Given the description of an element on the screen output the (x, y) to click on. 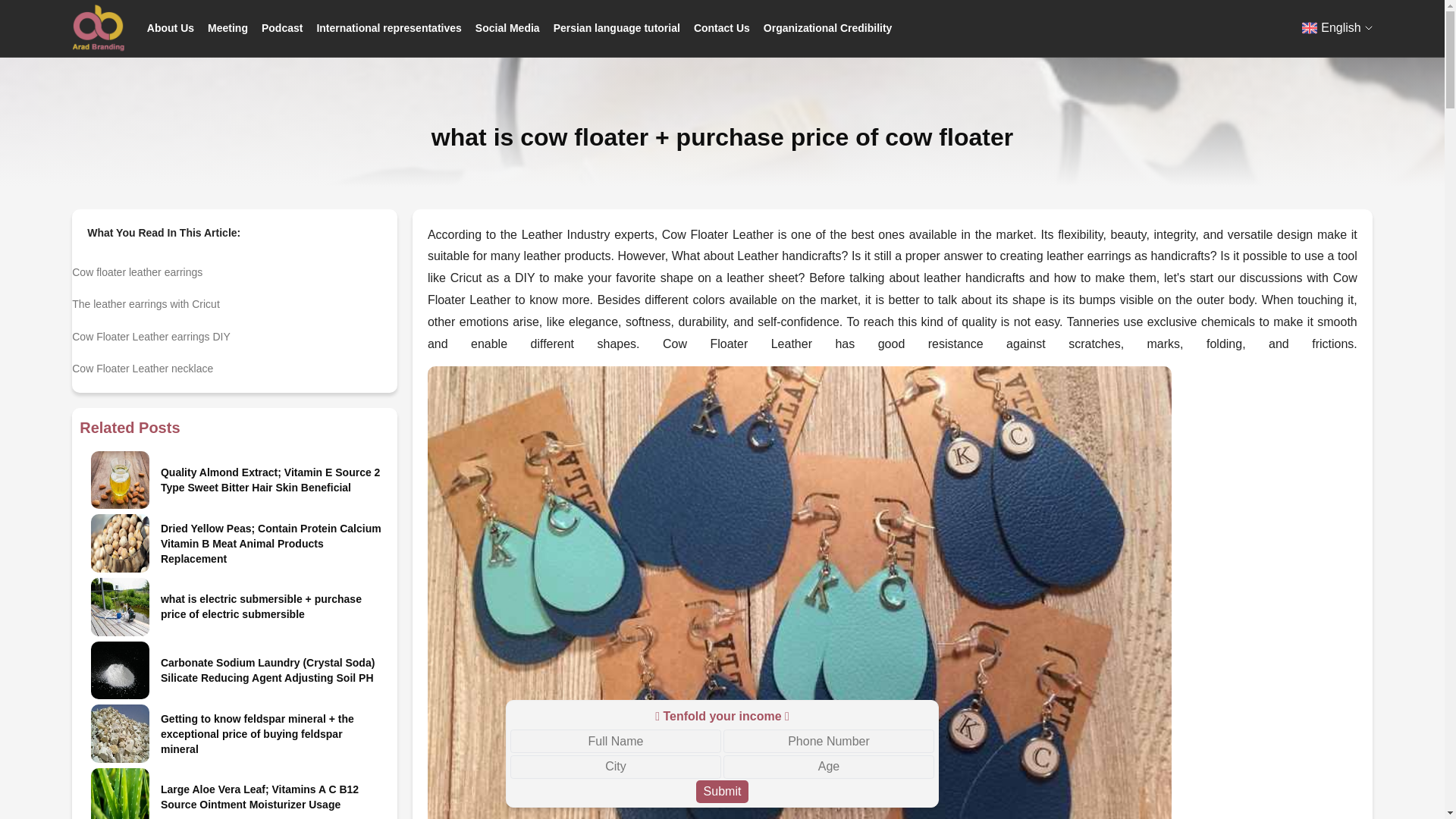
Cow Floater Leather earrings DIY (234, 332)
Podcast (282, 27)
About Us (170, 27)
Organizational Credibility (827, 27)
The leather earrings with Cricut (234, 300)
Contact Us (721, 27)
Persian language tutorial (616, 27)
International representatives (388, 27)
